Given the description of an element on the screen output the (x, y) to click on. 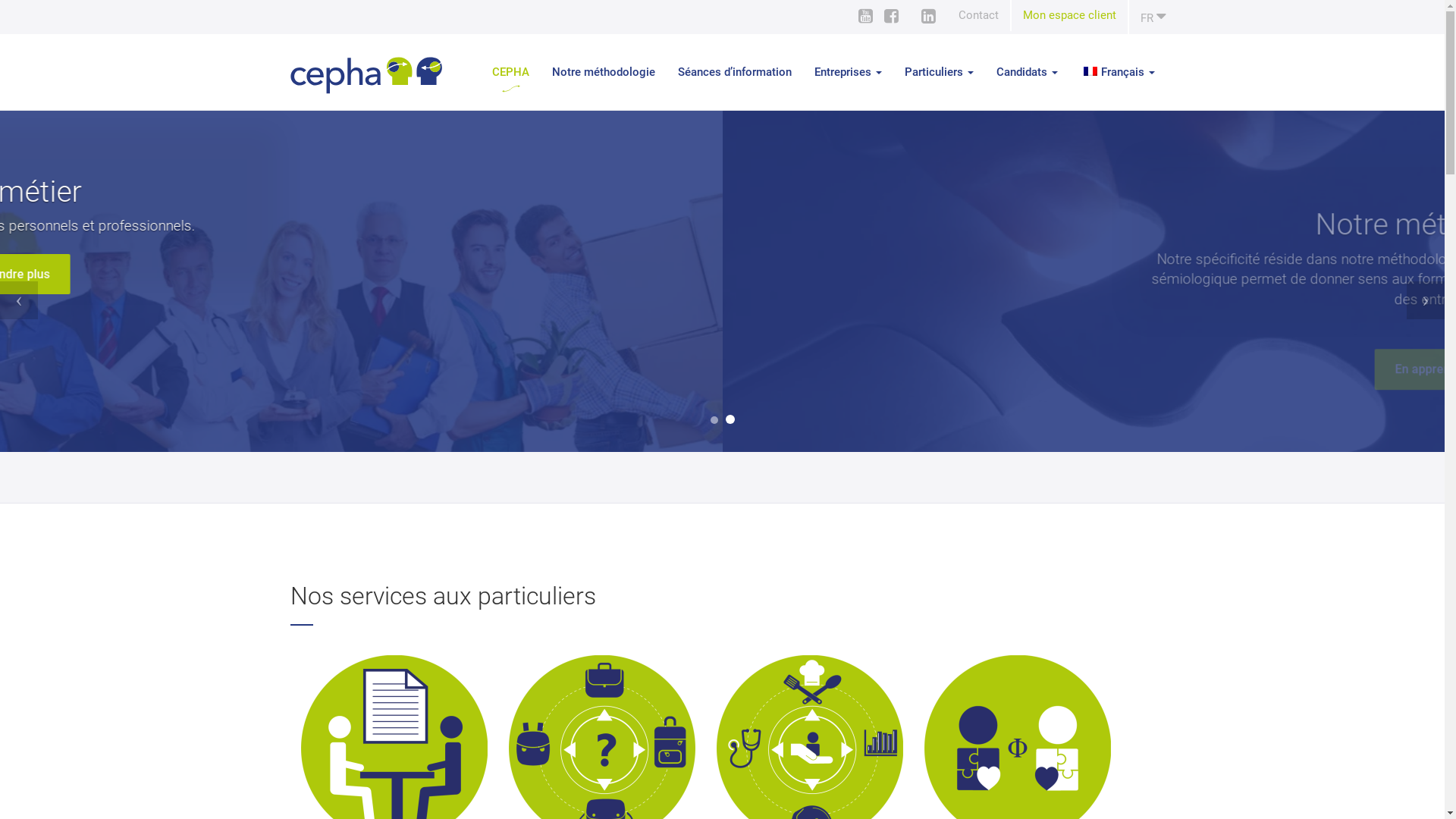
FR Element type: text (1146, 17)
CEPHA Element type: text (510, 71)
Next Element type: text (1335, 280)
En apprendre plus Element type: text (722, 274)
Contact Element type: text (977, 15)
Candidats Element type: text (1027, 71)
Mon espace client Element type: text (1069, 15)
Previous Element type: text (108, 280)
Particuliers Element type: text (939, 71)
Entreprises Element type: text (848, 71)
